Given the description of an element on the screen output the (x, y) to click on. 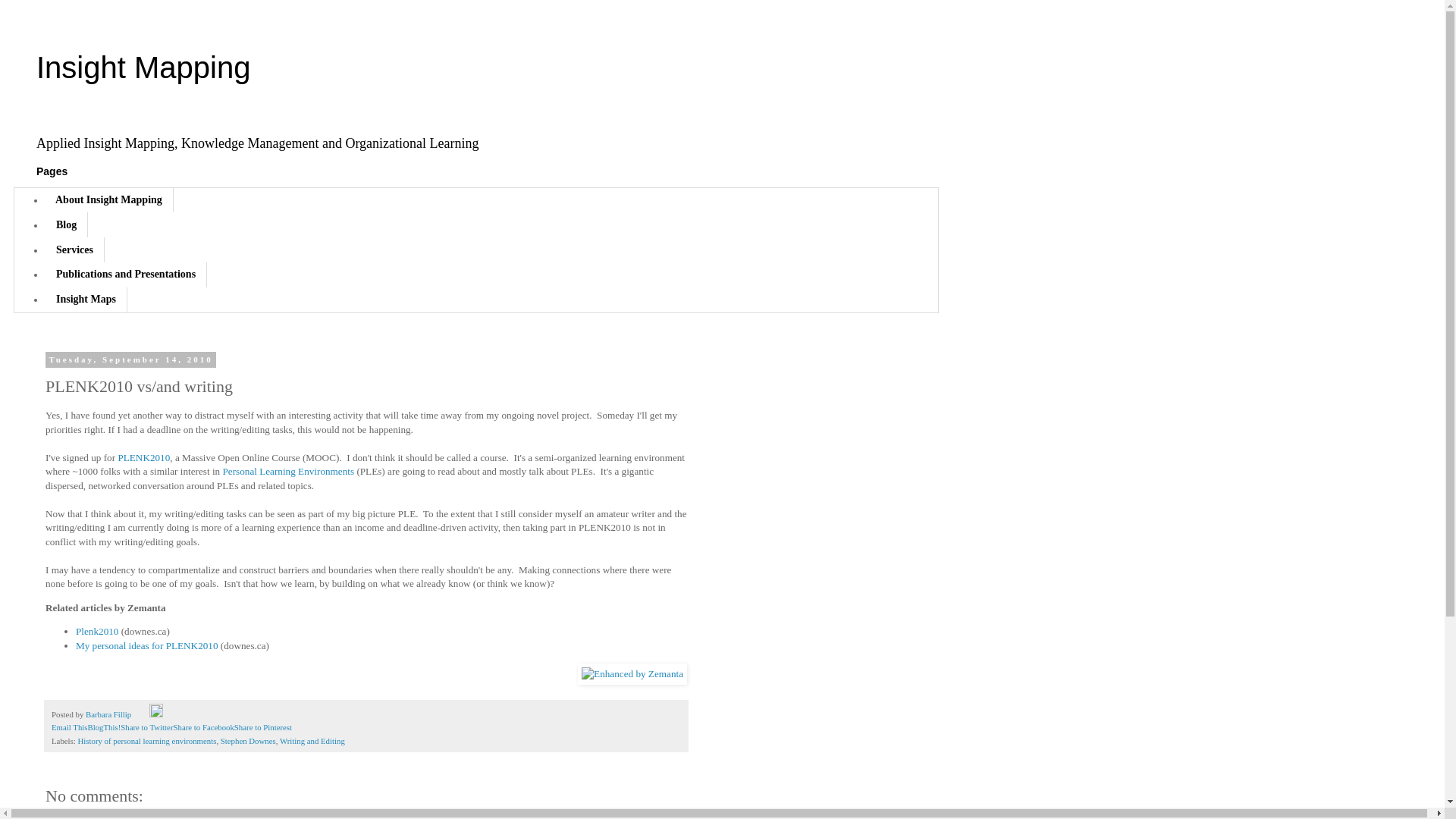
Insight Maps (86, 299)
History of personal learning environments (146, 740)
Email This (68, 727)
History of personal learning environments (287, 471)
Post a Comment (74, 816)
My personal ideas for PLENK2010 (146, 645)
Barbara Fillip (109, 714)
Share to Facebook (202, 727)
PLENK2010 (143, 457)
Share to Pinterest (263, 727)
